Given the description of an element on the screen output the (x, y) to click on. 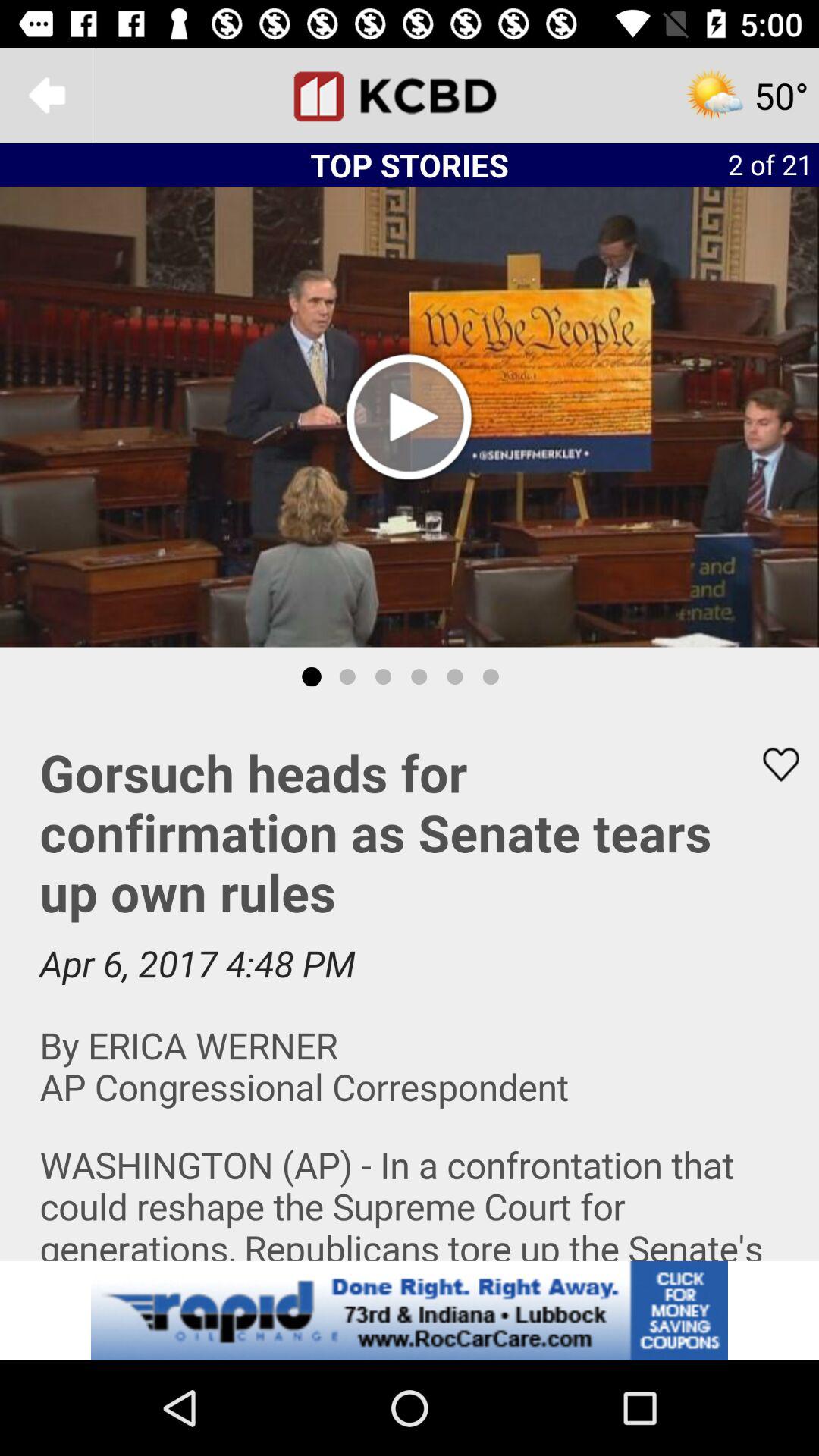
advertise a website (409, 1310)
